Given the description of an element on the screen output the (x, y) to click on. 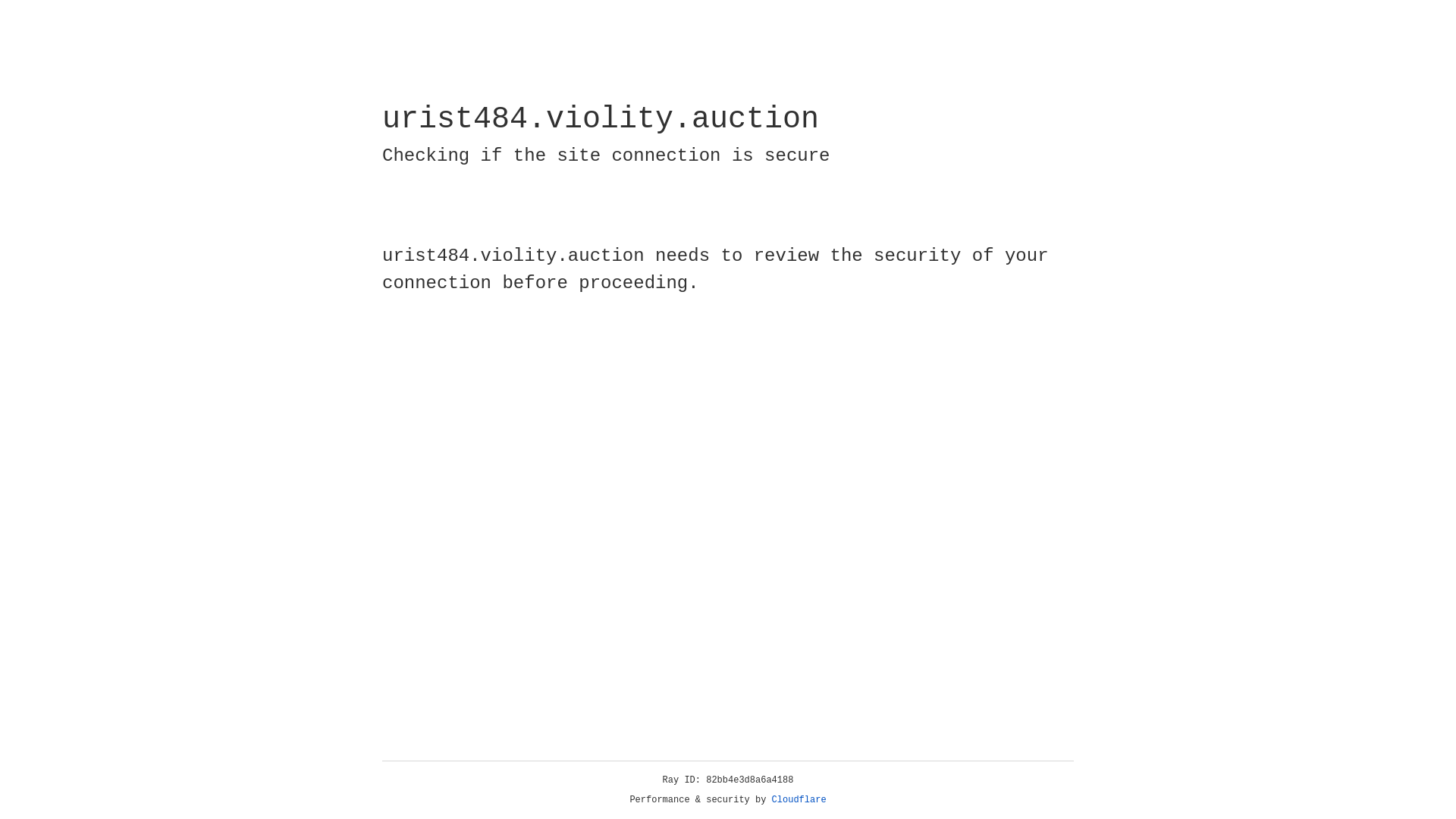
Cloudflare Element type: text (798, 799)
